Given the description of an element on the screen output the (x, y) to click on. 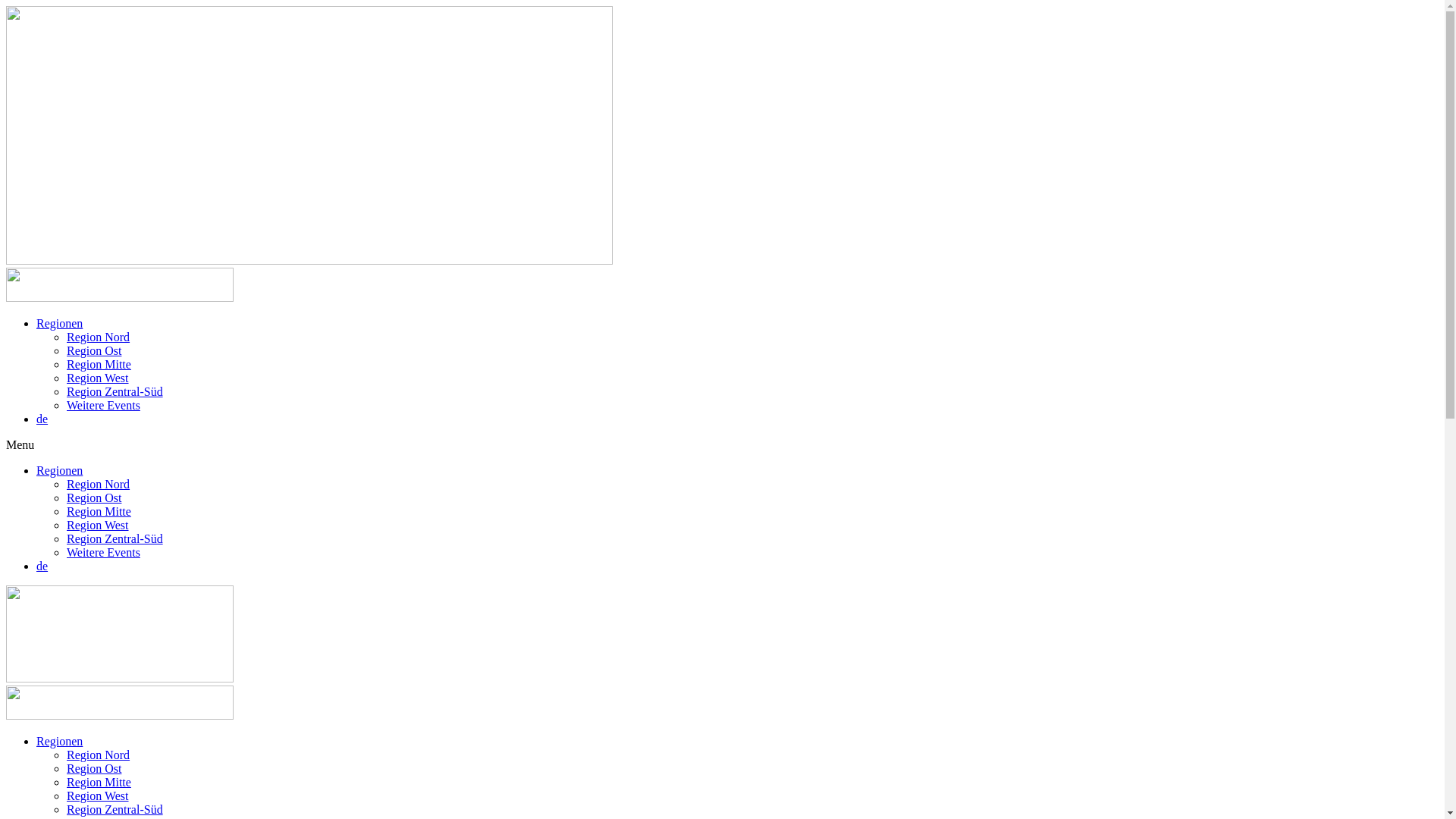
Region Ost Element type: text (93, 350)
Region West Element type: text (97, 795)
Region West Element type: text (97, 377)
Region Nord Element type: text (97, 336)
Weitere Events Element type: text (103, 404)
Weitere Events Element type: text (103, 552)
Region Ost Element type: text (93, 768)
Regionen Element type: text (59, 470)
Regionen Element type: text (59, 322)
Region Mitte Element type: text (98, 511)
Region Nord Element type: text (97, 754)
Region Nord Element type: text (97, 483)
Region West Element type: text (97, 524)
Region Mitte Element type: text (98, 363)
de Element type: text (41, 418)
Region Mitte Element type: text (98, 781)
Regionen Element type: text (59, 740)
de Element type: text (41, 565)
Region Ost Element type: text (93, 497)
